Given the description of an element on the screen output the (x, y) to click on. 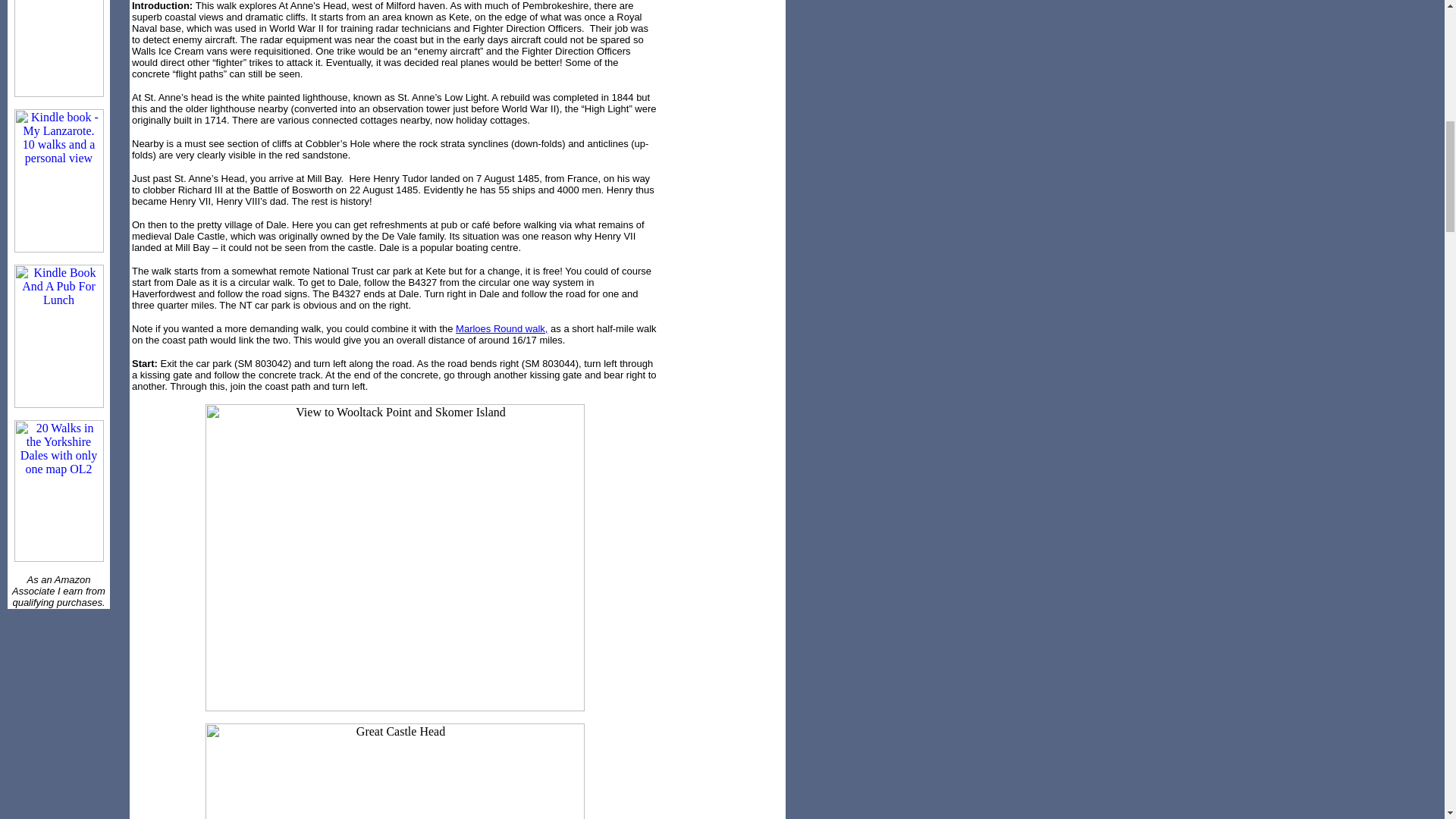
Marloes Round walk, (501, 328)
